Given the description of an element on the screen output the (x, y) to click on. 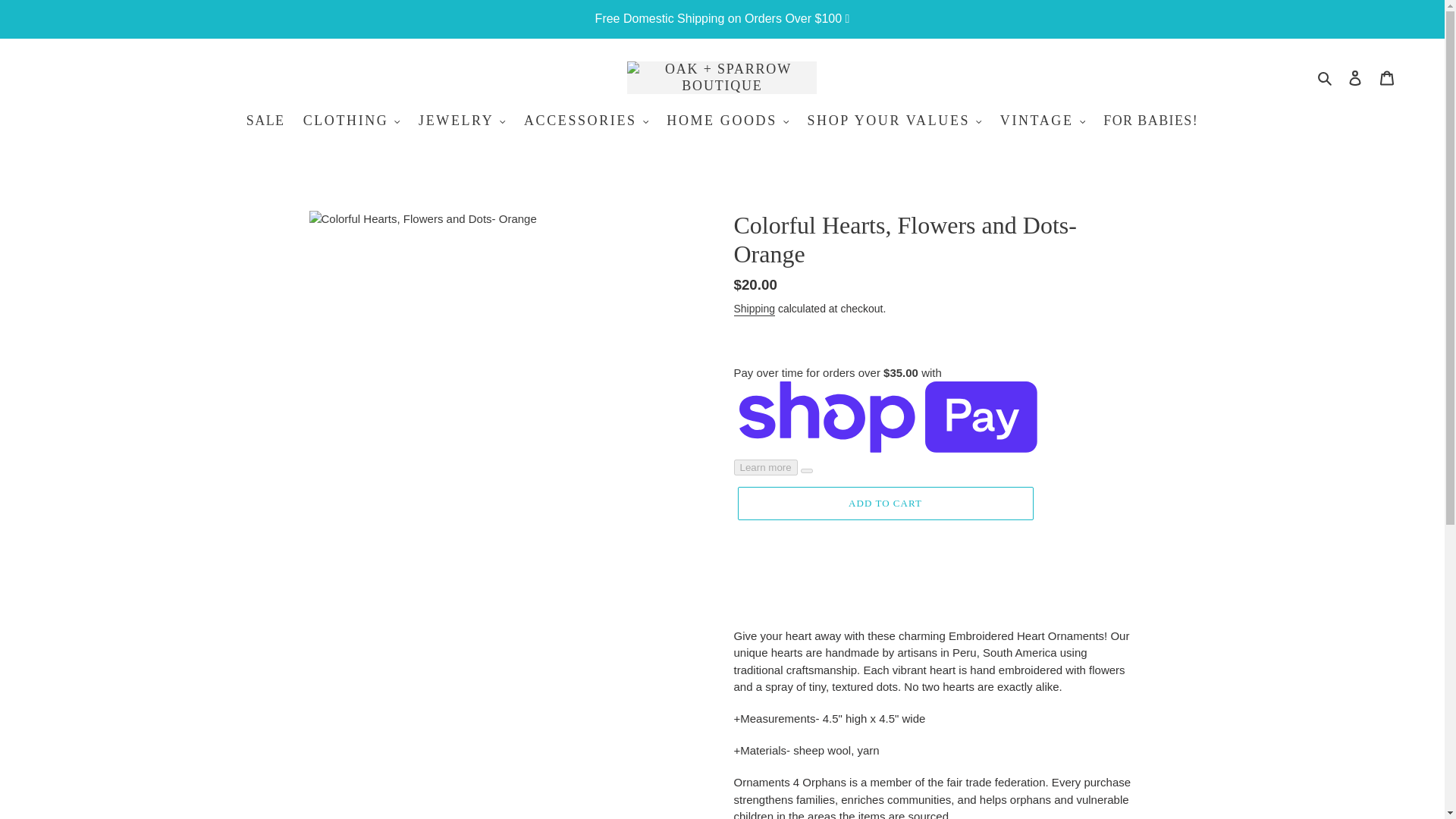
Search (1326, 76)
Log in (1355, 77)
Cart (1387, 77)
